Given the description of an element on the screen output the (x, y) to click on. 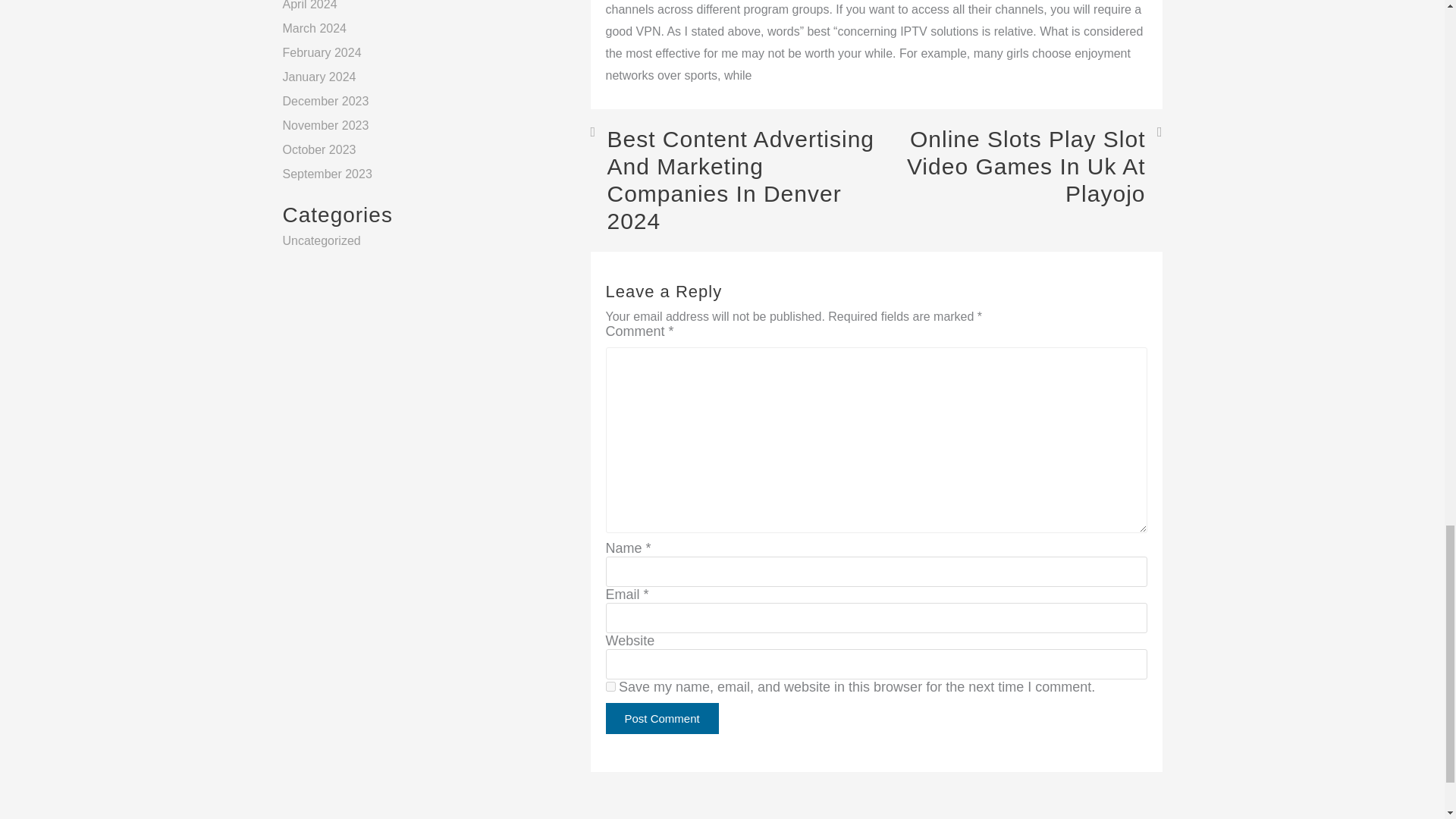
Post Comment (661, 717)
Post Comment (661, 717)
yes (609, 686)
Online Slots Play Slot Video Games In Uk At Playojo (1018, 167)
